Given the description of an element on the screen output the (x, y) to click on. 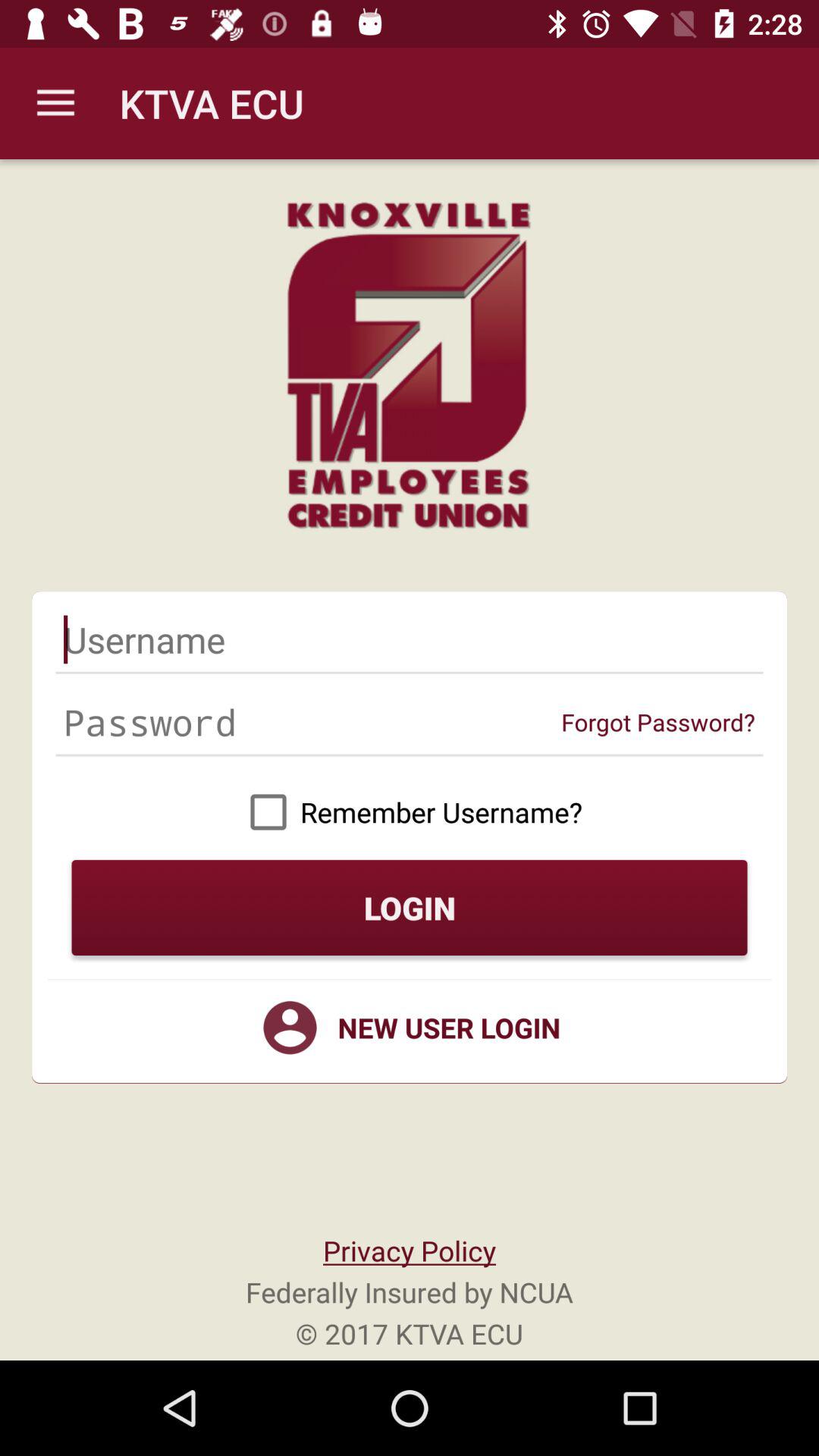
choose item above the login item (409, 812)
